Given the description of an element on the screen output the (x, y) to click on. 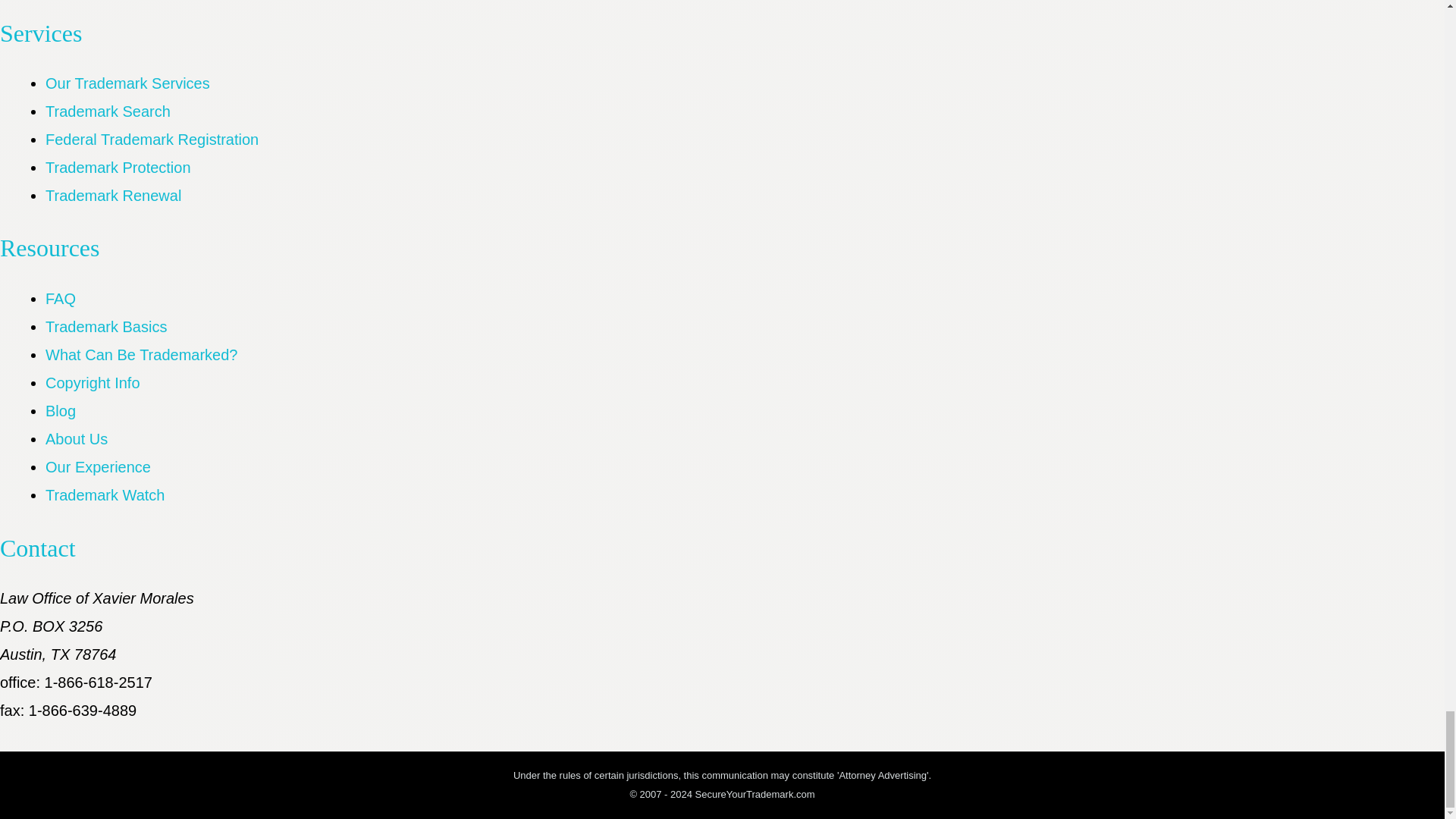
Federal Trademark Registration (152, 139)
Trademark Basics (106, 326)
Trademark Renewal (112, 195)
Blog (60, 410)
What Can Be Trademarked? (141, 354)
Copyright Info (92, 382)
Trademark Protection (117, 167)
Our Trademark Services (127, 83)
Our Experience (98, 466)
Trademark Watch (104, 494)
About Us (76, 438)
FAQ (60, 298)
Trademark Search (107, 111)
